Given the description of an element on the screen output the (x, y) to click on. 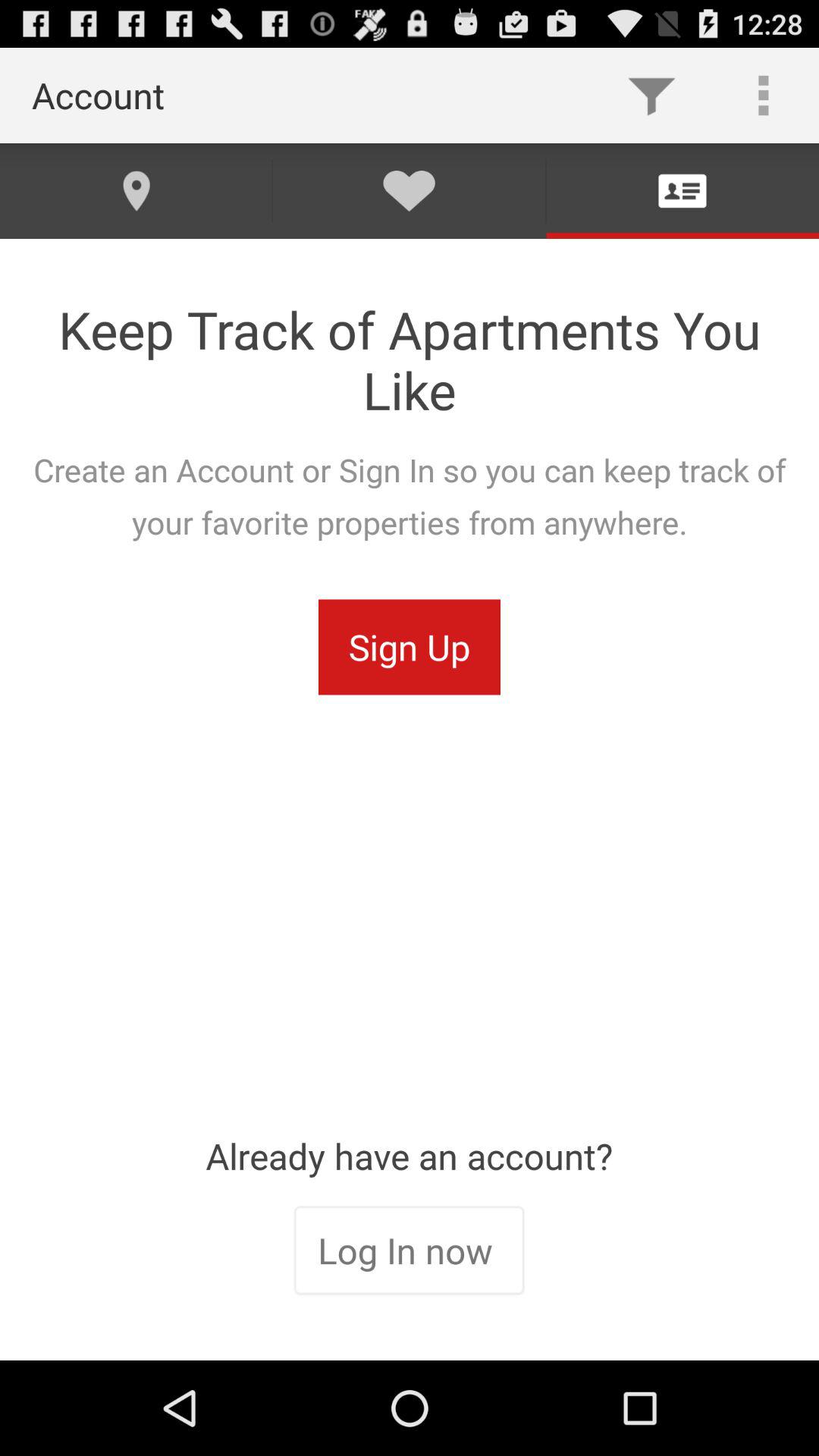
press the item to the right of the account icon (651, 95)
